Given the description of an element on the screen output the (x, y) to click on. 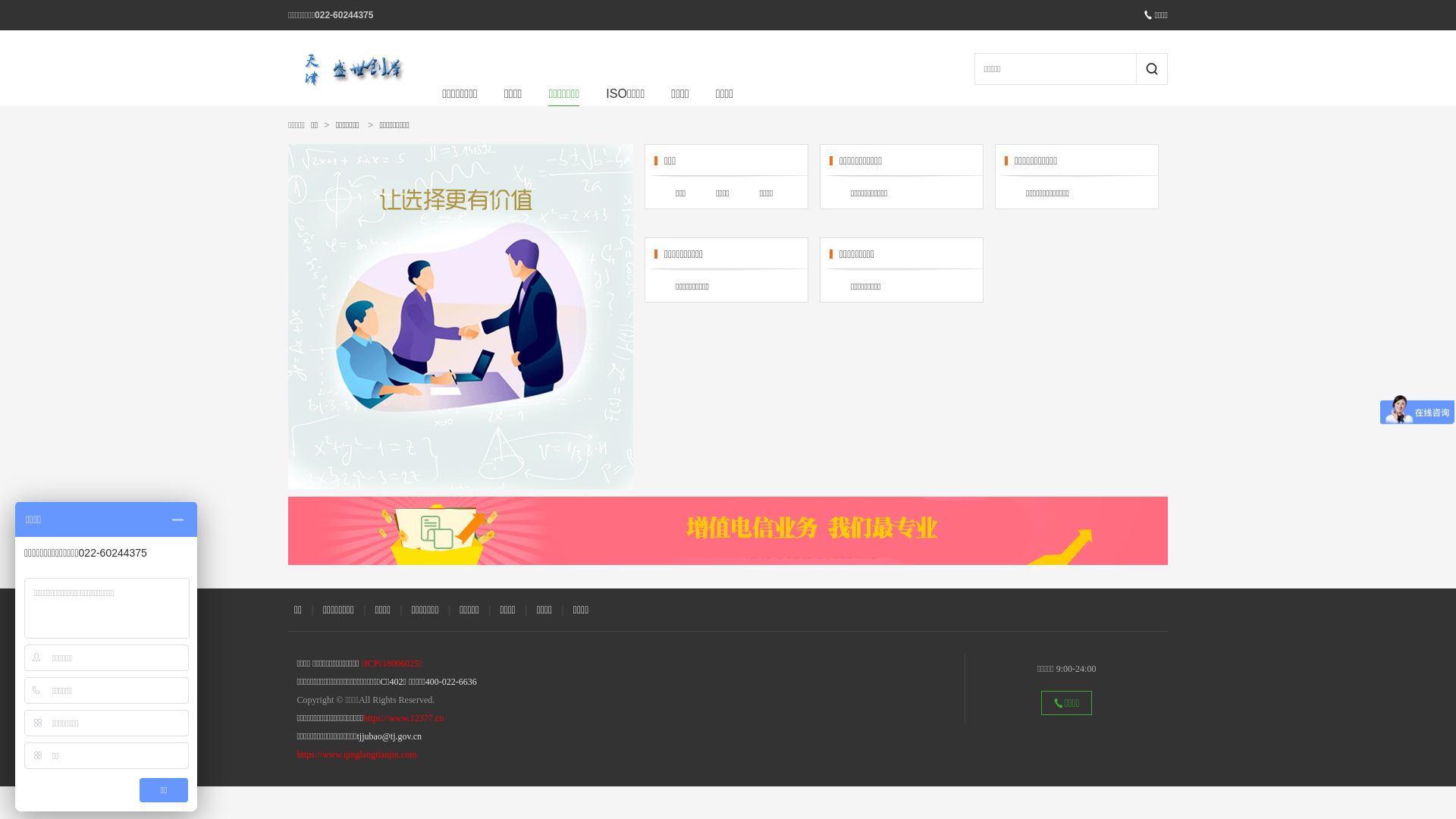
https://www.12377.cn Element type: text (403, 717)
https://www.qinglangtianjin.com Element type: text (357, 754)
